Given the description of an element on the screen output the (x, y) to click on. 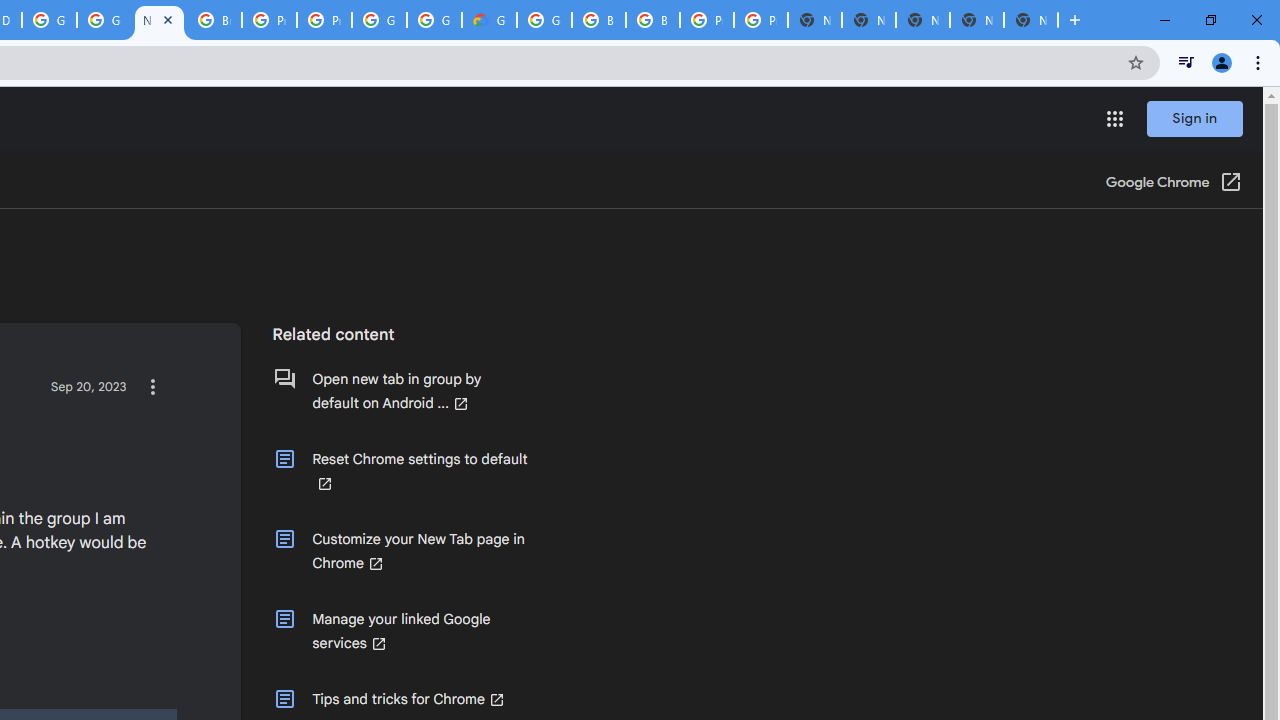
Manage your linked Google services (Opens in a new window) (400, 631)
Google Cloud Platform (434, 20)
Browse Chrome as a guest - Computer - Google Chrome Help (213, 20)
Google Cloud Platform (544, 20)
Google Chrome (Open in a new window) (1173, 183)
